Given the description of an element on the screen output the (x, y) to click on. 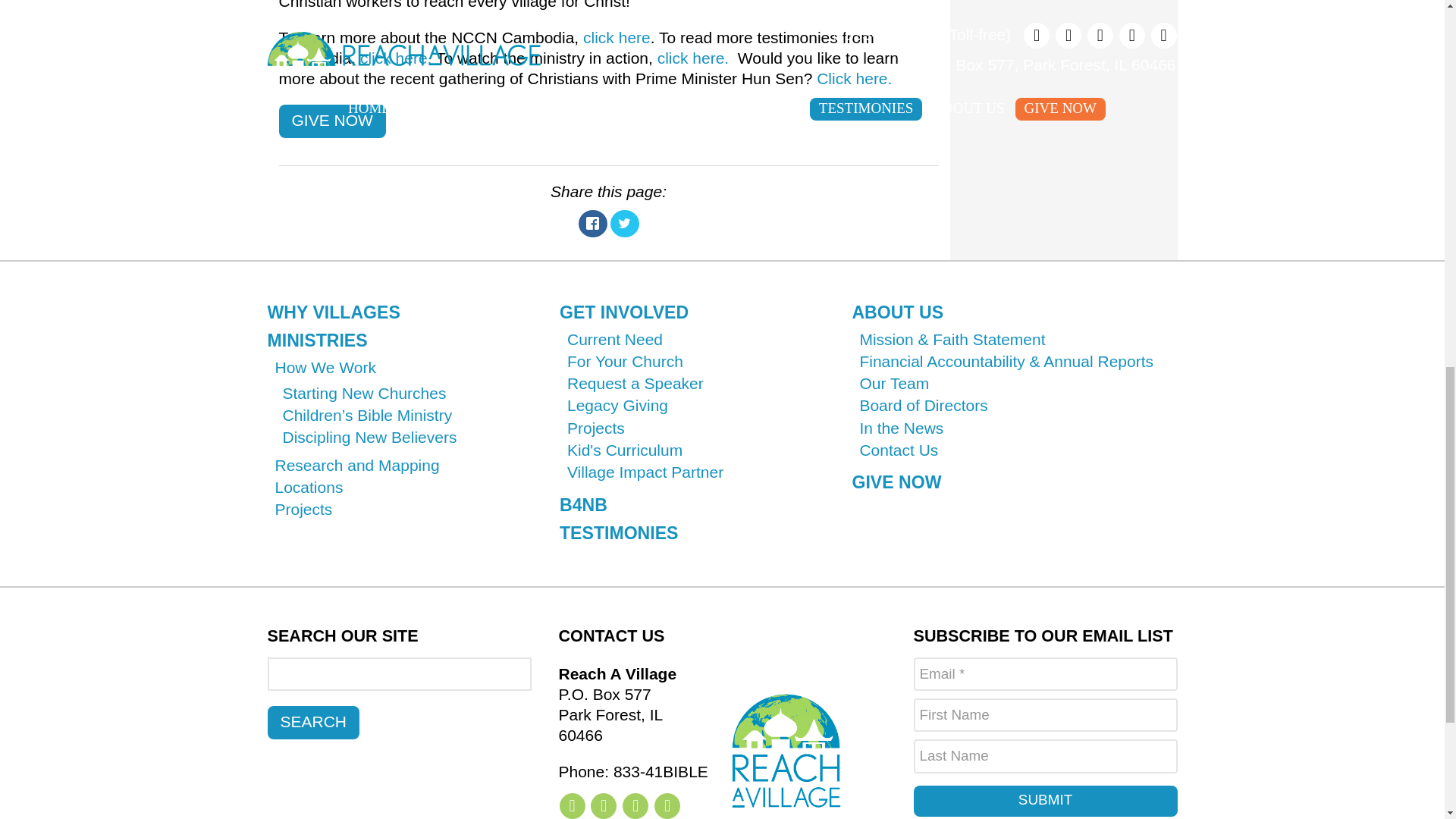
Logo Footer (785, 750)
P.O. Box 577Park Forest, IL 60466 (632, 704)
Submit (1044, 801)
NCCN Cambodia website (616, 36)
833-412-4253 (632, 771)
